Given the description of an element on the screen output the (x, y) to click on. 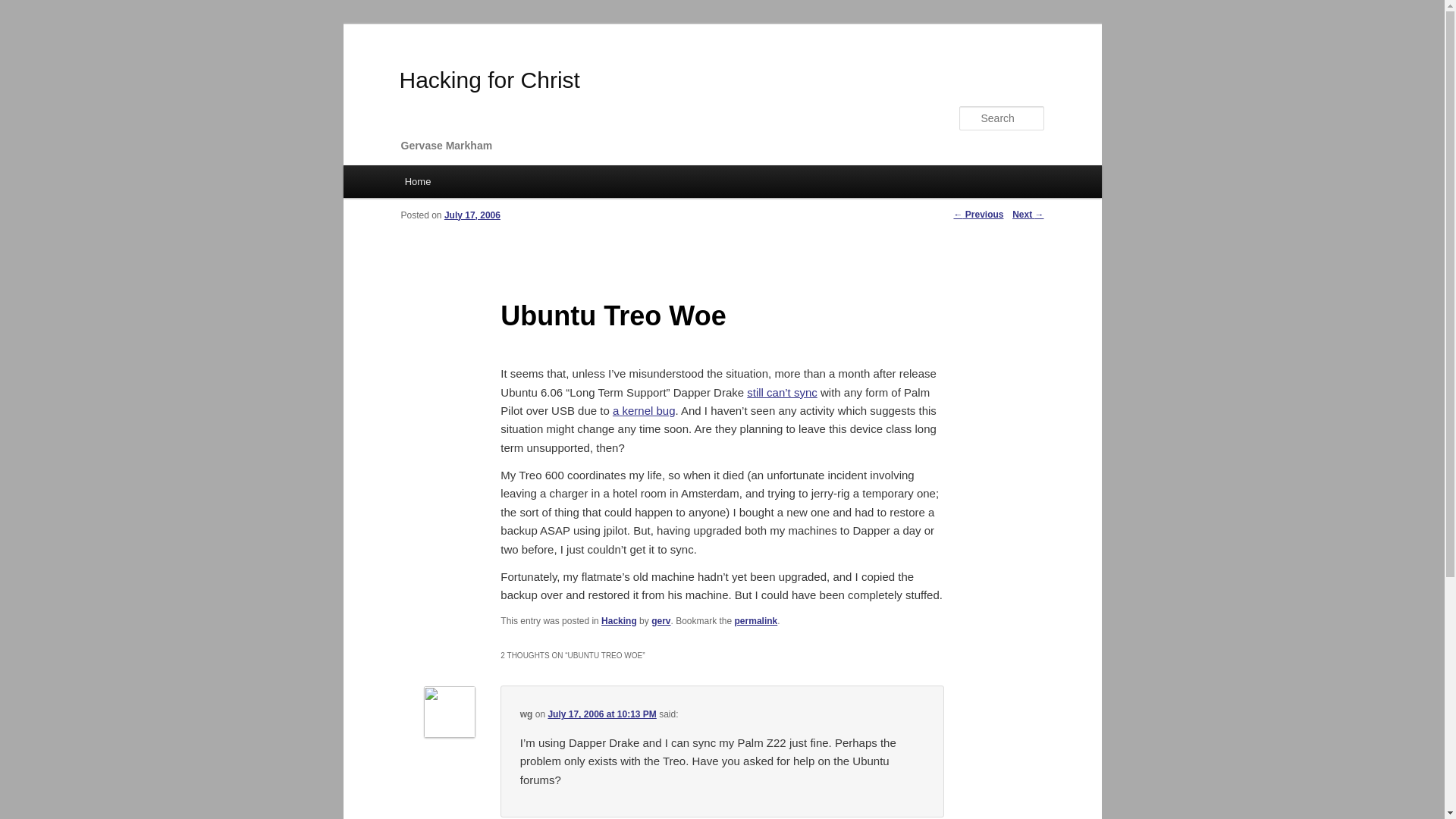
Permalink to Ubuntu Treo Woe (756, 620)
Skip to primary content (472, 184)
a kernel bug (643, 410)
Skip to secondary content (479, 184)
July 17, 2006 at 10:13 PM (601, 714)
gerv (659, 620)
8:47 PM (472, 214)
Hacking (619, 620)
permalink (756, 620)
Hacking for Christ (488, 79)
